Given the description of an element on the screen output the (x, y) to click on. 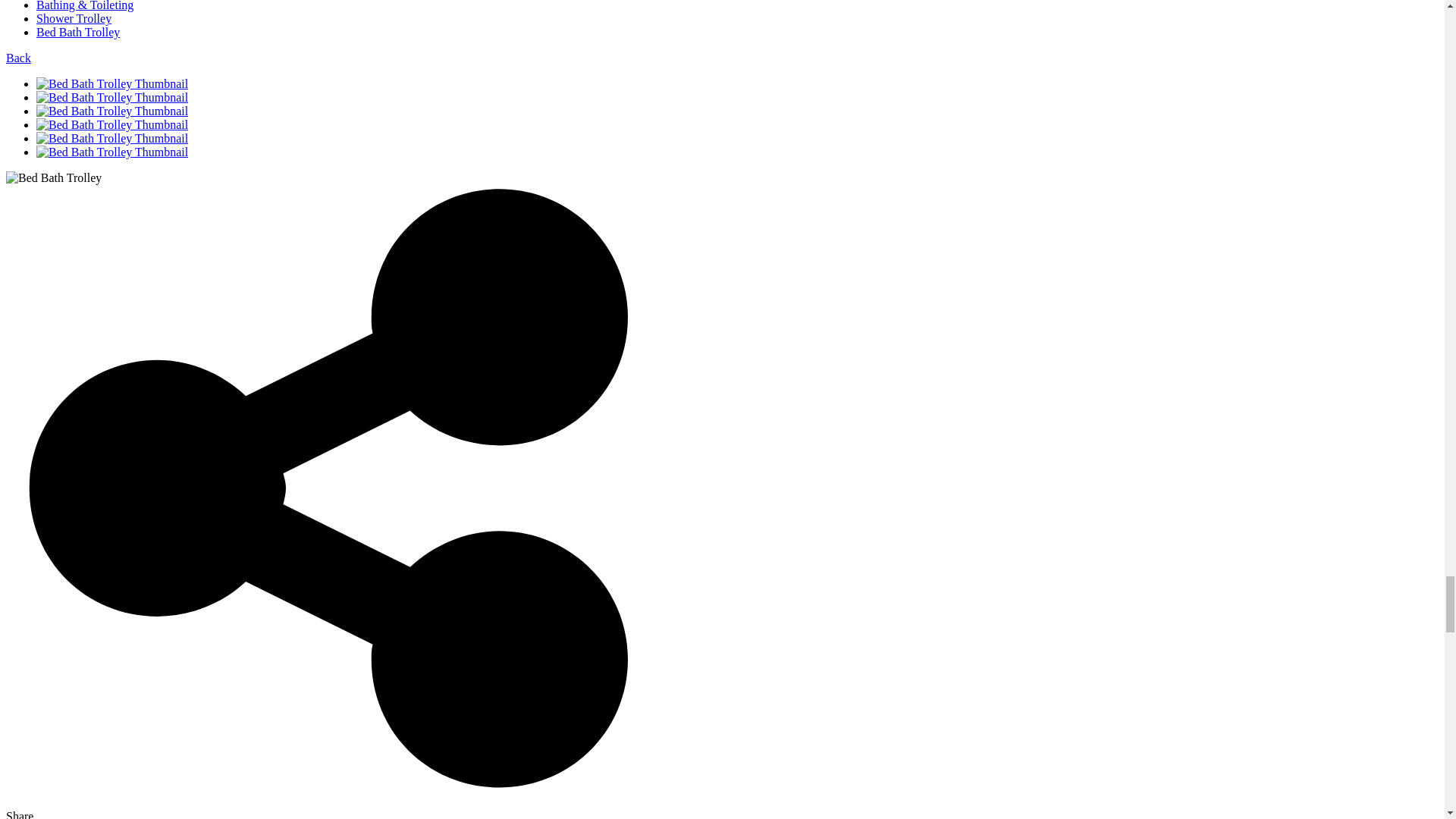
Bed Bath Trolley Thumbnail (111, 151)
Bed Bath Trolley (53, 178)
Bed Bath Trolley Thumbnail (111, 124)
Shower Trolley (74, 18)
Bed Bath Trolley Thumbnail (111, 97)
Bed Bath Trolley Thumbnail (331, 138)
Bed Bath Trolley Thumbnail (331, 97)
Bed Bath Trolley (77, 31)
Bed Bath Trolley Thumbnail (111, 138)
Bed Bath Trolley Thumbnail (111, 83)
